Given the description of an element on the screen output the (x, y) to click on. 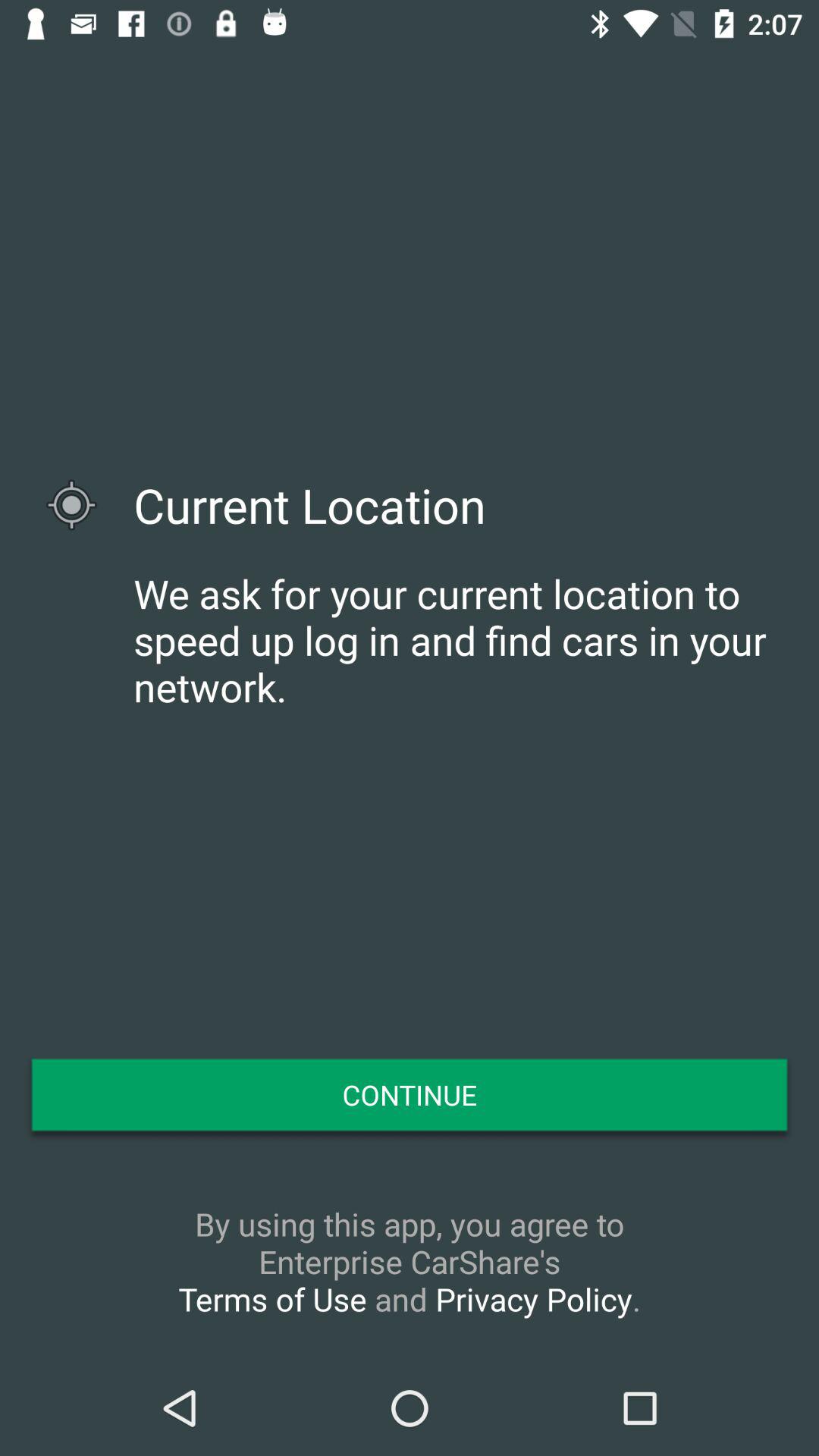
turn on the by using this icon (409, 1261)
